Given the description of an element on the screen output the (x, y) to click on. 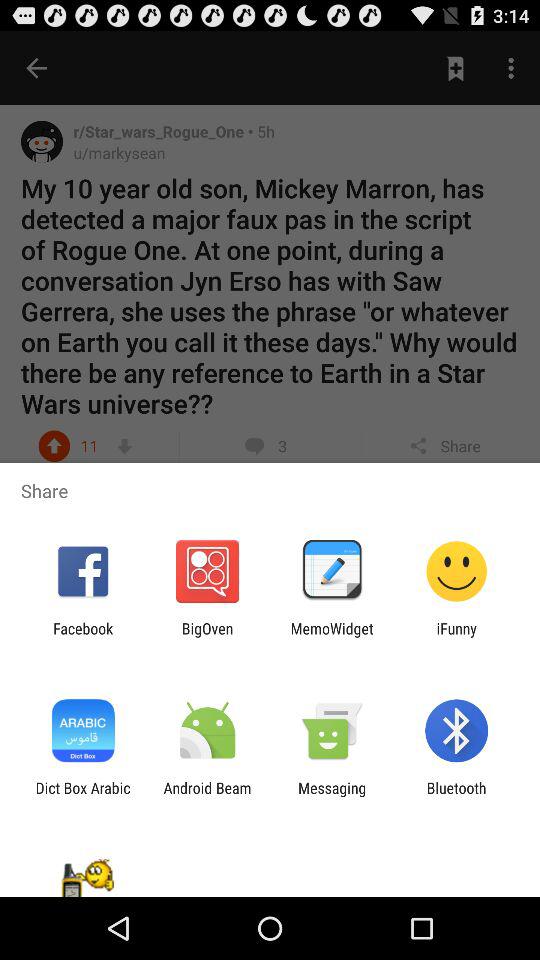
turn on the item next to the bluetooth (332, 796)
